Given the description of an element on the screen output the (x, y) to click on. 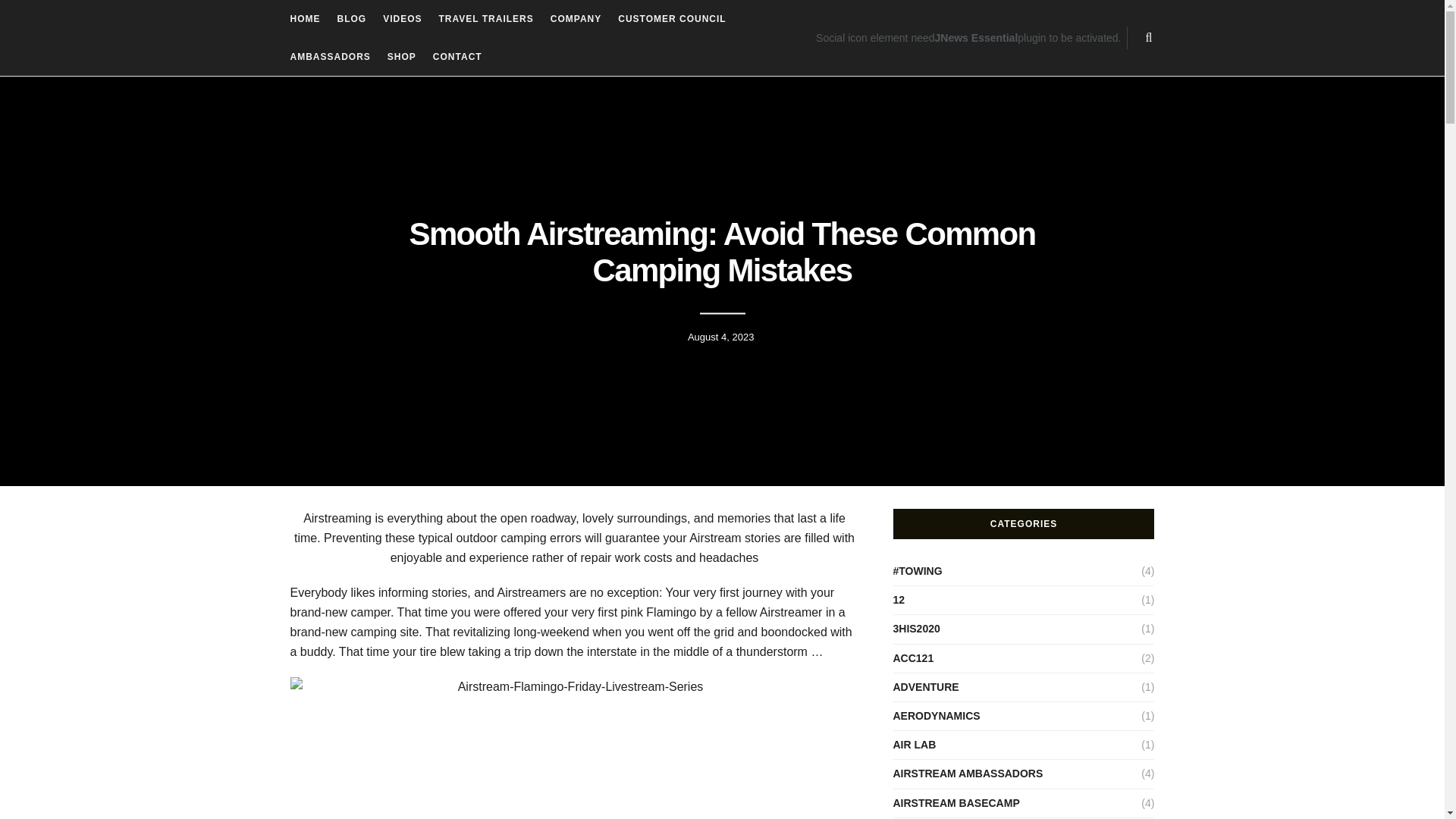
HOME (304, 18)
VIDEOS (402, 18)
SHOP (401, 56)
CONTACT (456, 56)
ACC121 (913, 658)
AMBASSADORS (329, 56)
ADVENTURE (926, 687)
3HIS2020 (916, 628)
COMPANY (575, 18)
AIR LAB (914, 744)
AERODYNAMICS (936, 715)
August 4, 2023 (720, 337)
CUSTOMER COUNCIL (671, 18)
AIRSTREAM AMBASSADORS (968, 773)
TRAVEL TRAILERS (486, 18)
